Given the description of an element on the screen output the (x, y) to click on. 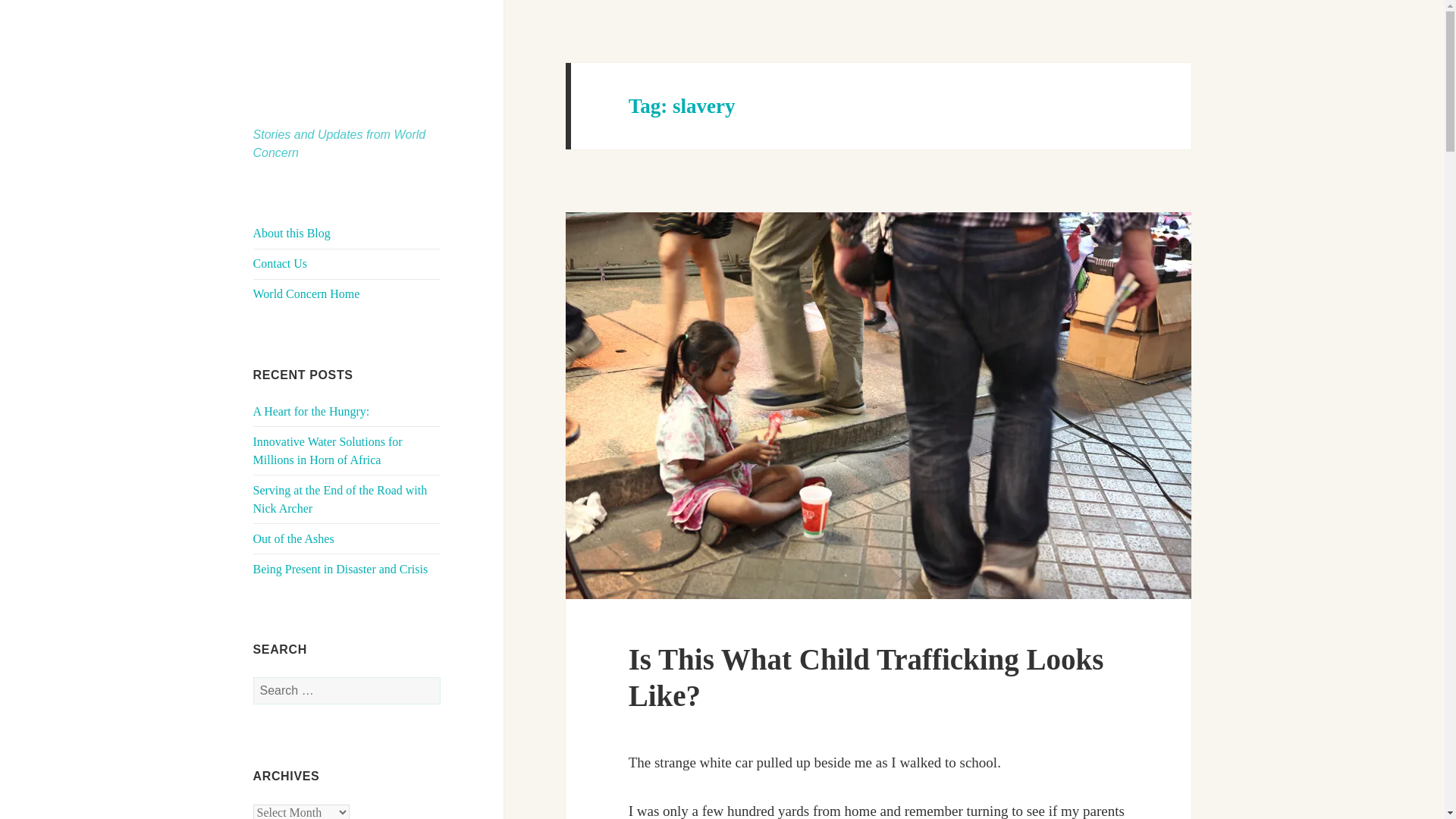
Serving at the End of the Road with Nick Archer (340, 499)
Contact Us (280, 263)
Out of the Ashes (293, 538)
Innovative Water Solutions for Millions in Horn of Africa (328, 450)
About this Blog (291, 232)
World Concern Home (306, 293)
Is This What Child Trafficking Looks Like? (865, 676)
